Given the description of an element on the screen output the (x, y) to click on. 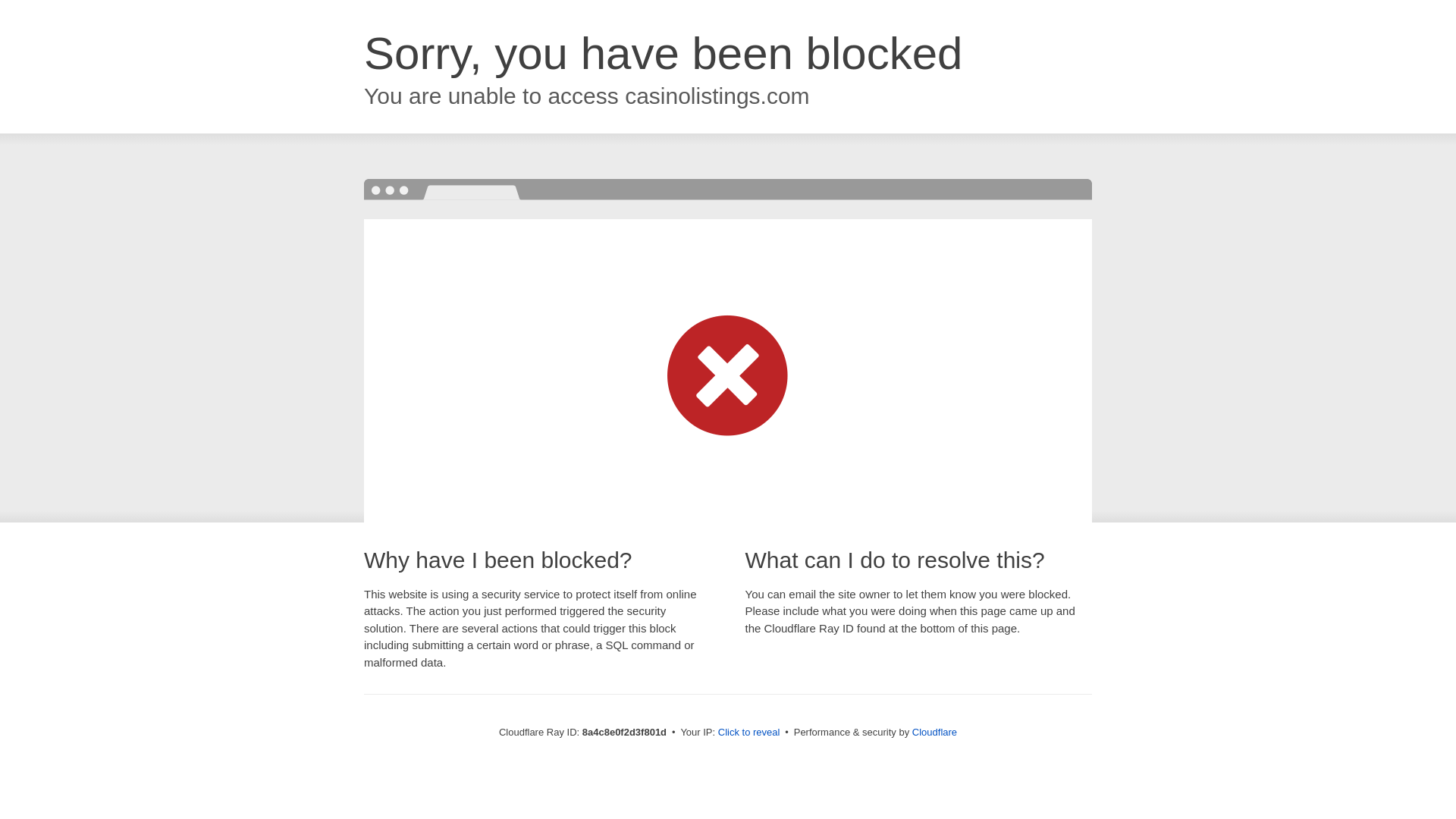
Click to reveal (748, 732)
Cloudflare (934, 731)
